Given the description of an element on the screen output the (x, y) to click on. 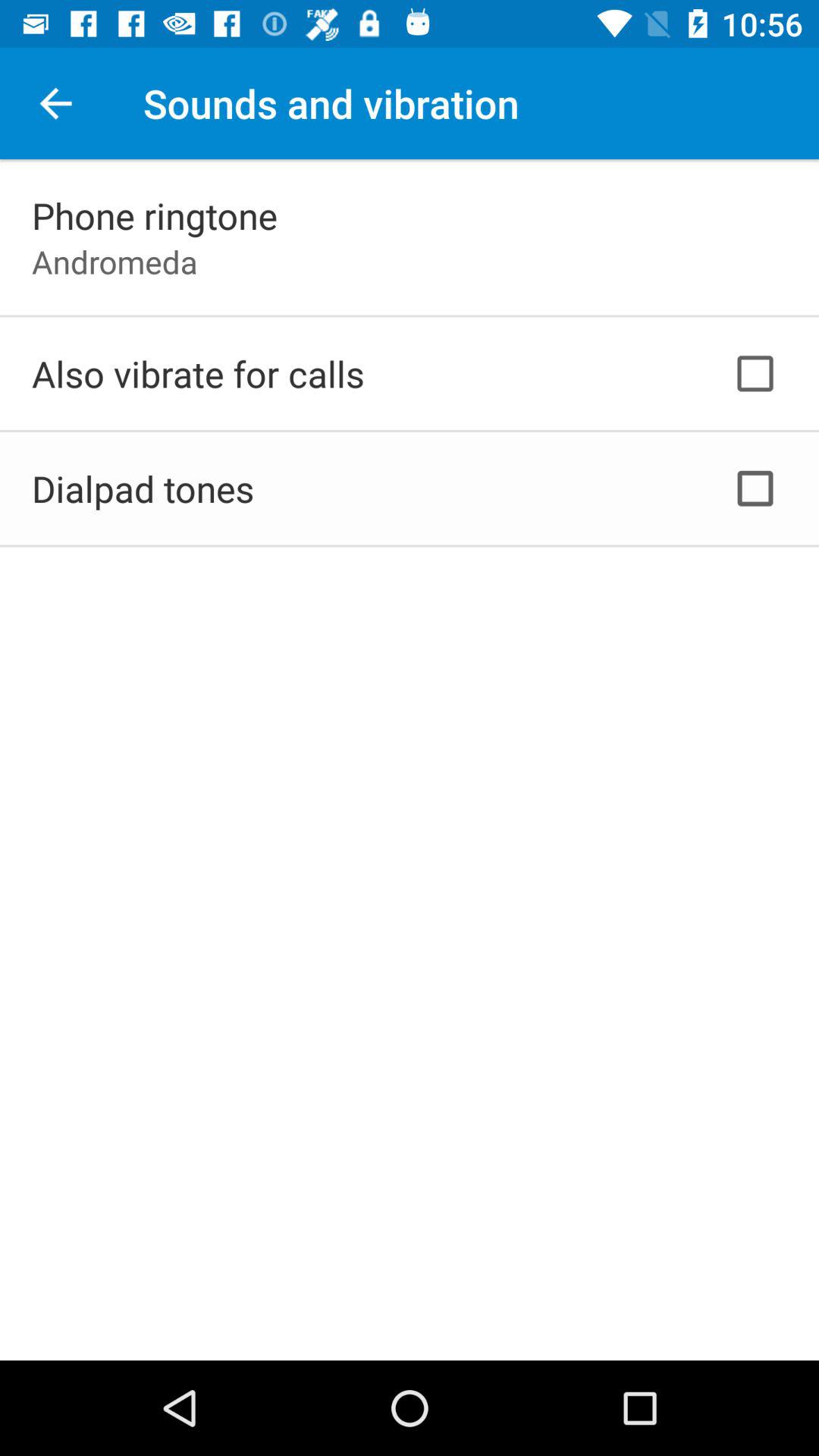
scroll until dialpad tones item (142, 488)
